Given the description of an element on the screen output the (x, y) to click on. 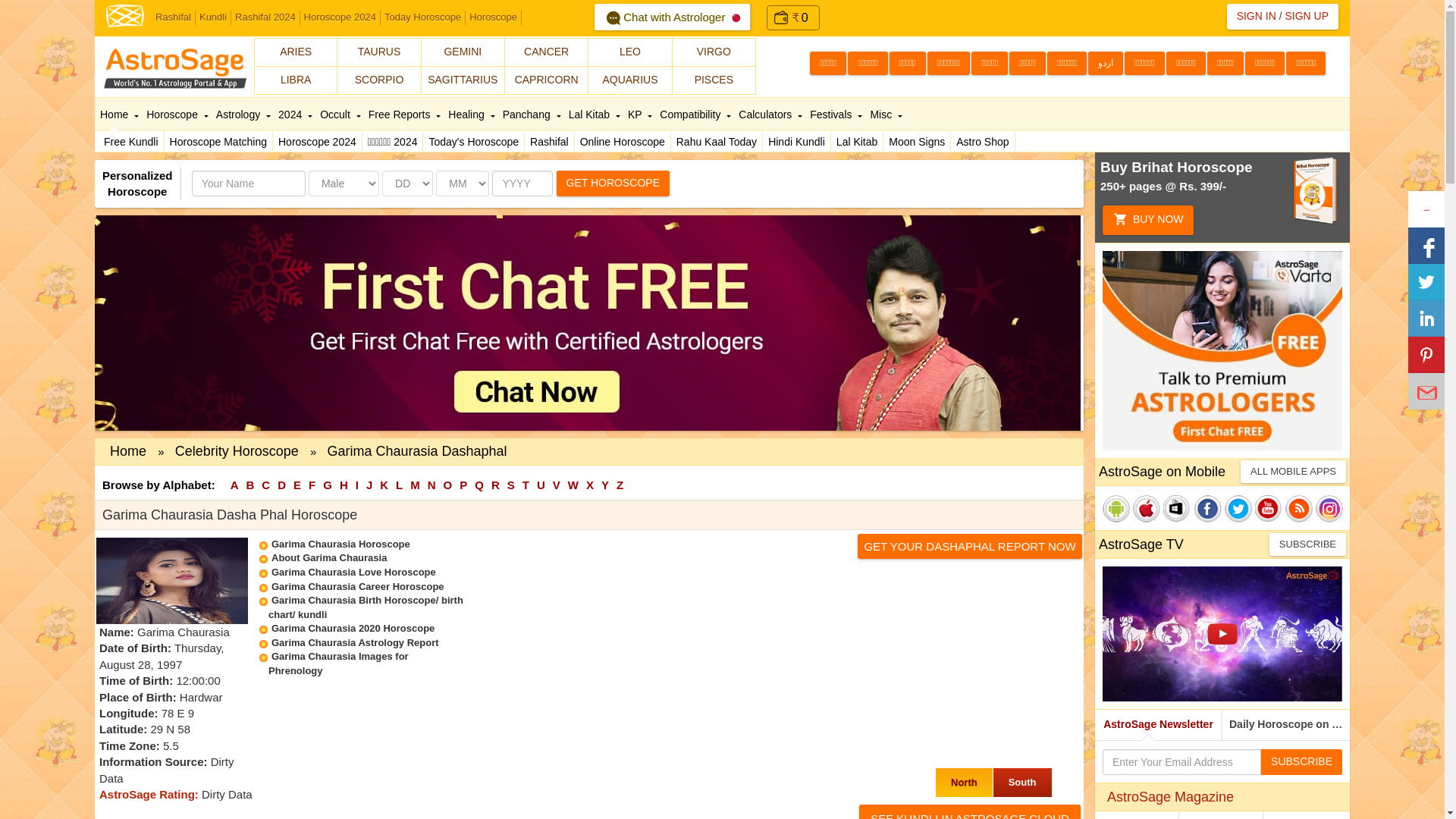
Horoscope 2024 (339, 17)
LIBRA (295, 80)
Get your daily rashifal in hindi (549, 141)
SAGITTARIUS (462, 80)
SCORPIO (378, 80)
Kundli (213, 17)
Rashifal (173, 17)
TAURUS (378, 52)
CAPRICORN (546, 80)
Today Horoscope (422, 17)
